Given the description of an element on the screen output the (x, y) to click on. 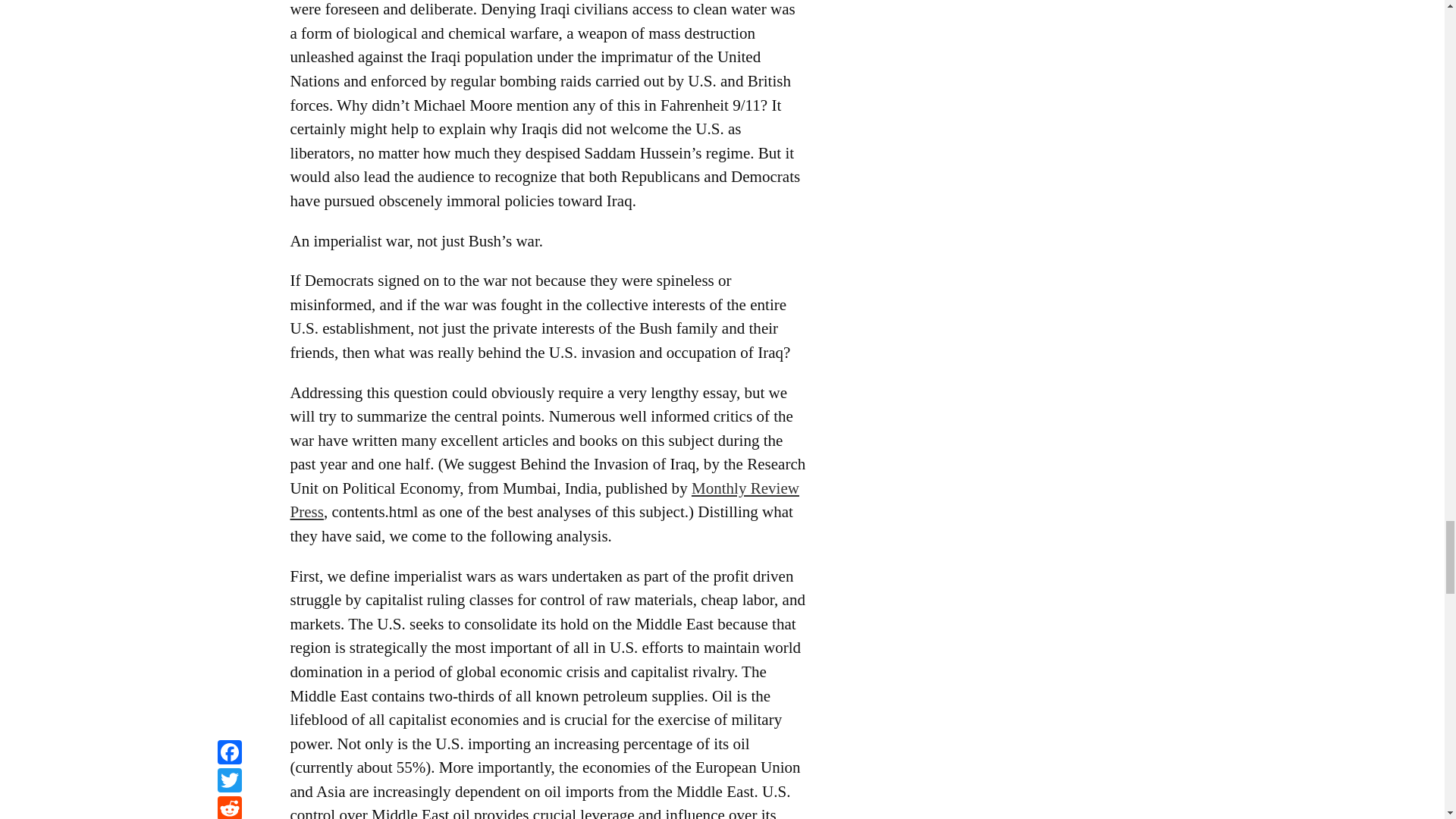
Monthly Review Press (543, 500)
